Given the description of an element on the screen output the (x, y) to click on. 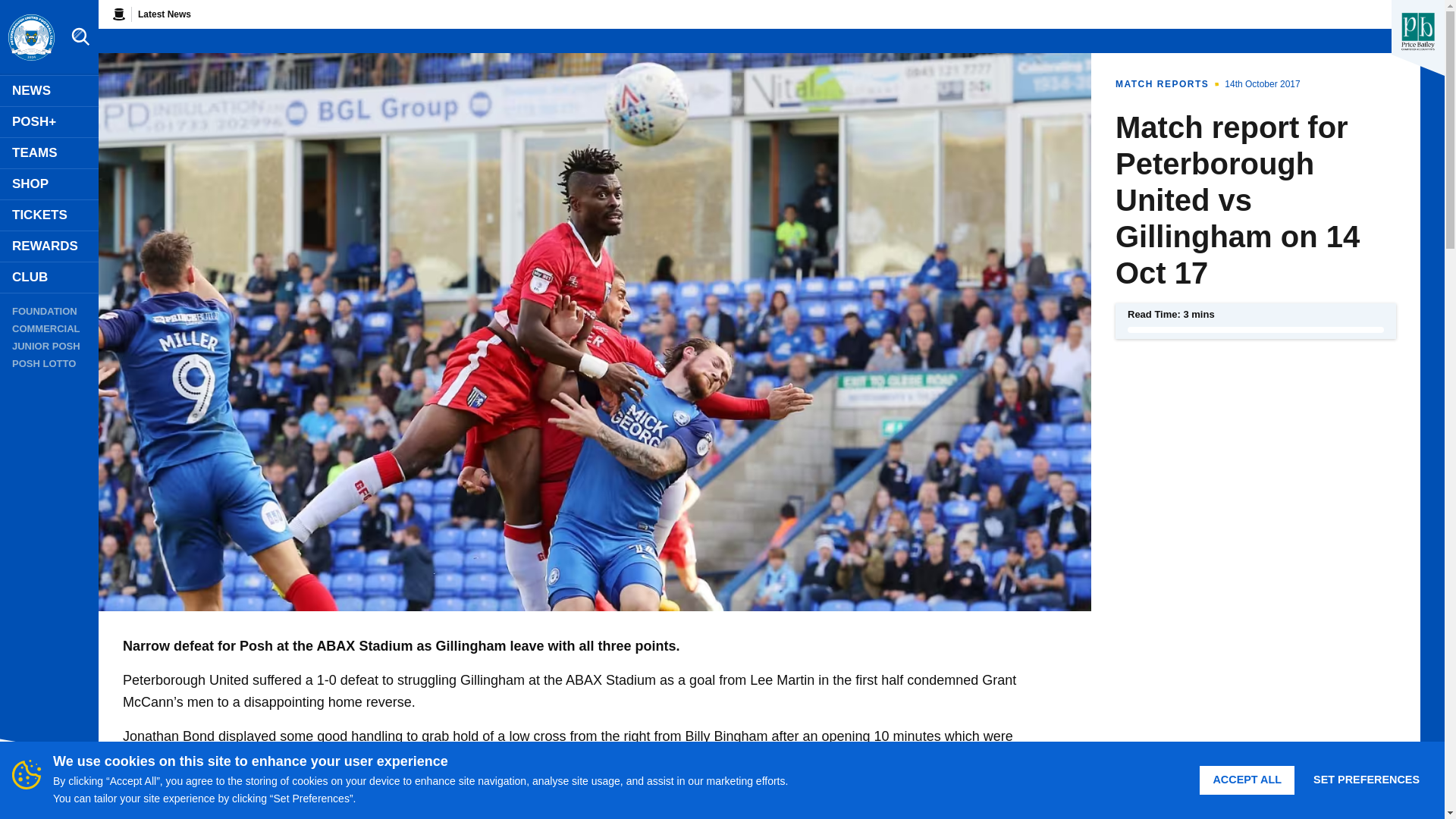
TEAMS (49, 153)
News (49, 91)
Link to Peterborough United homepage (31, 37)
NEWS (49, 91)
